Given the description of an element on the screen output the (x, y) to click on. 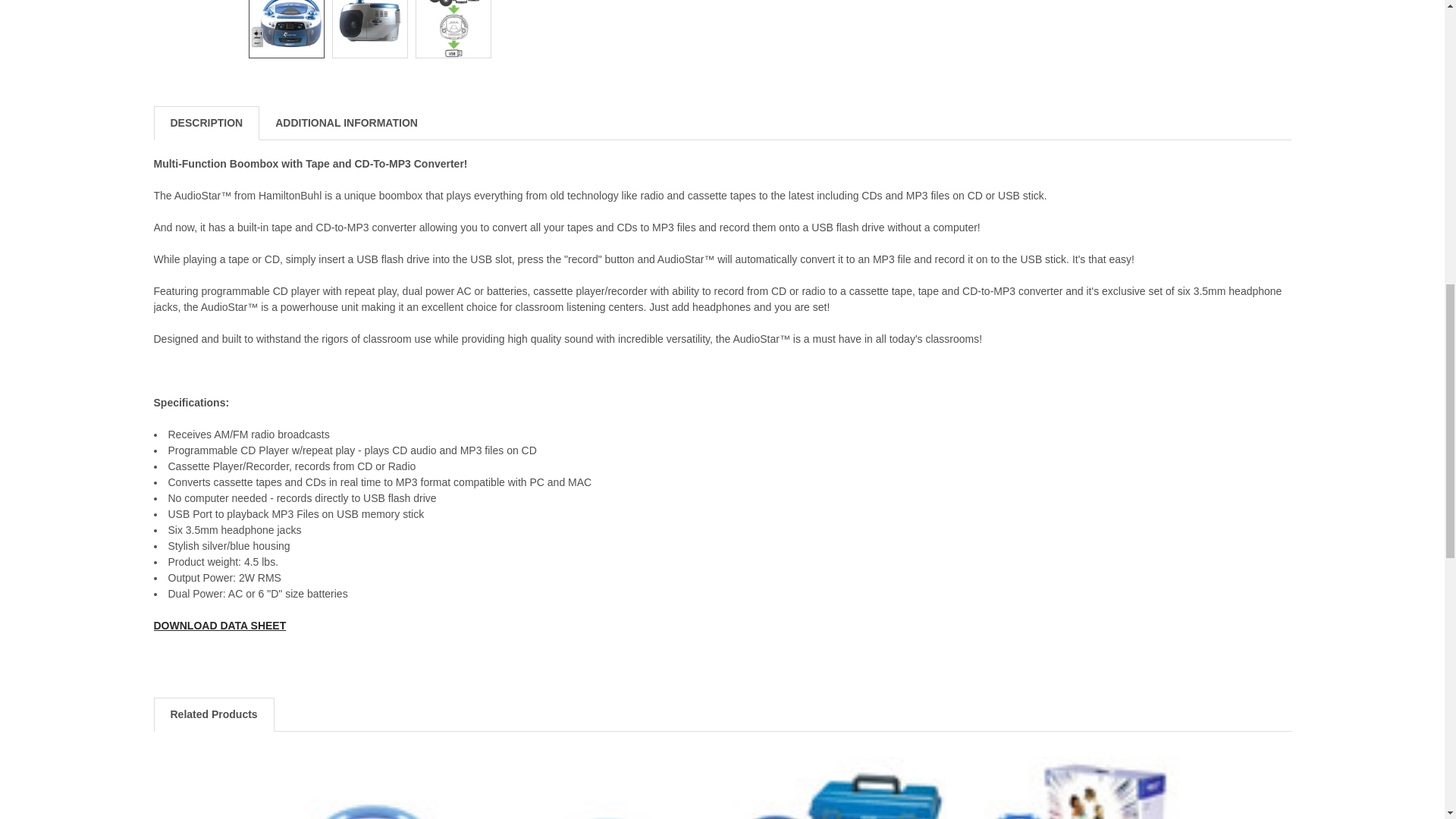
DOWNLOAD DATA SHEET (218, 625)
